Given the description of an element on the screen output the (x, y) to click on. 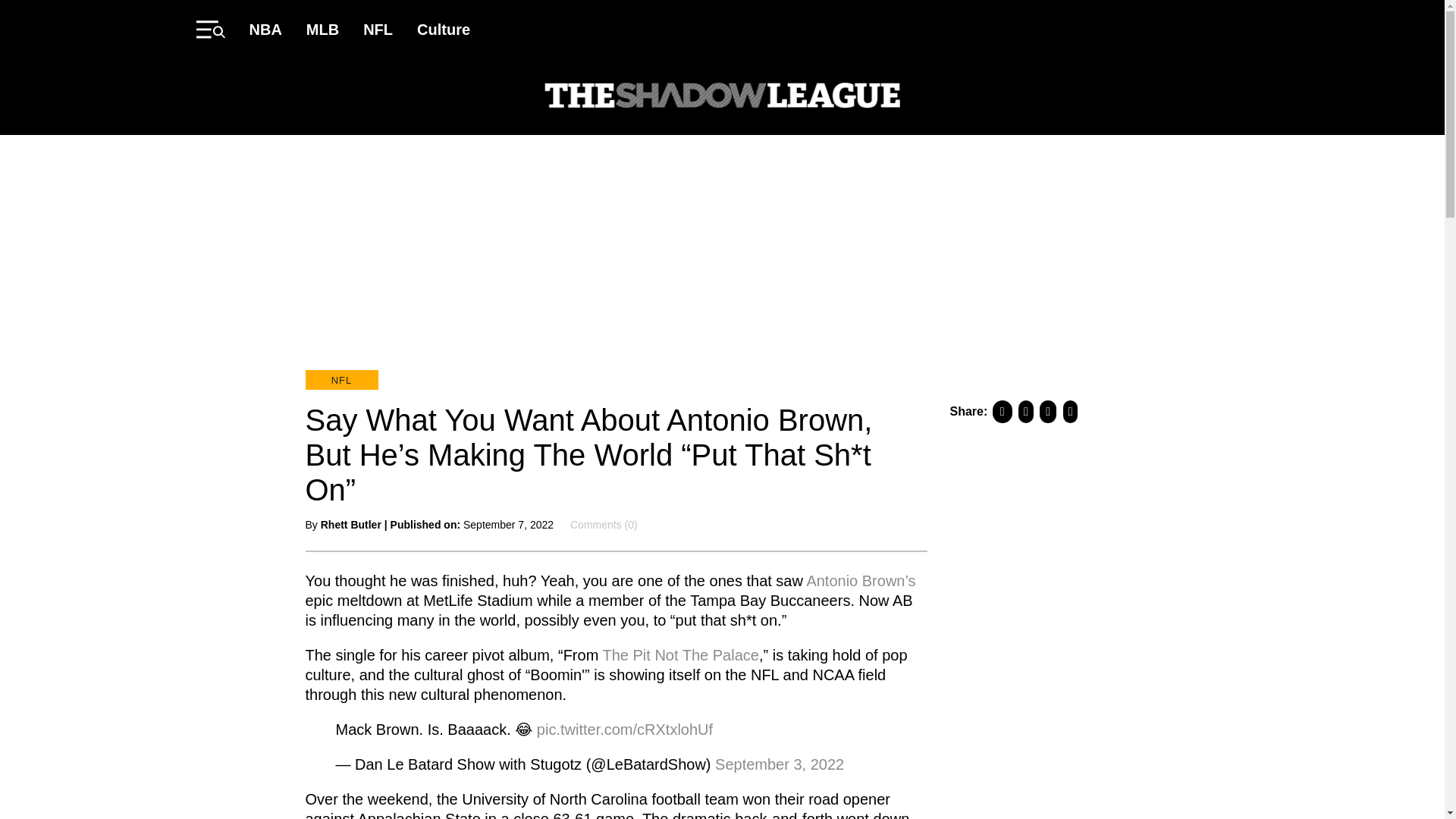
NBA (264, 29)
The Shadow League (721, 96)
Rhett Butler (350, 524)
Culture (443, 29)
NFL (340, 379)
The Pit Not The Palace (678, 654)
September 3, 2022 (779, 763)
MLB (322, 29)
NFL (377, 29)
